Given the description of an element on the screen output the (x, y) to click on. 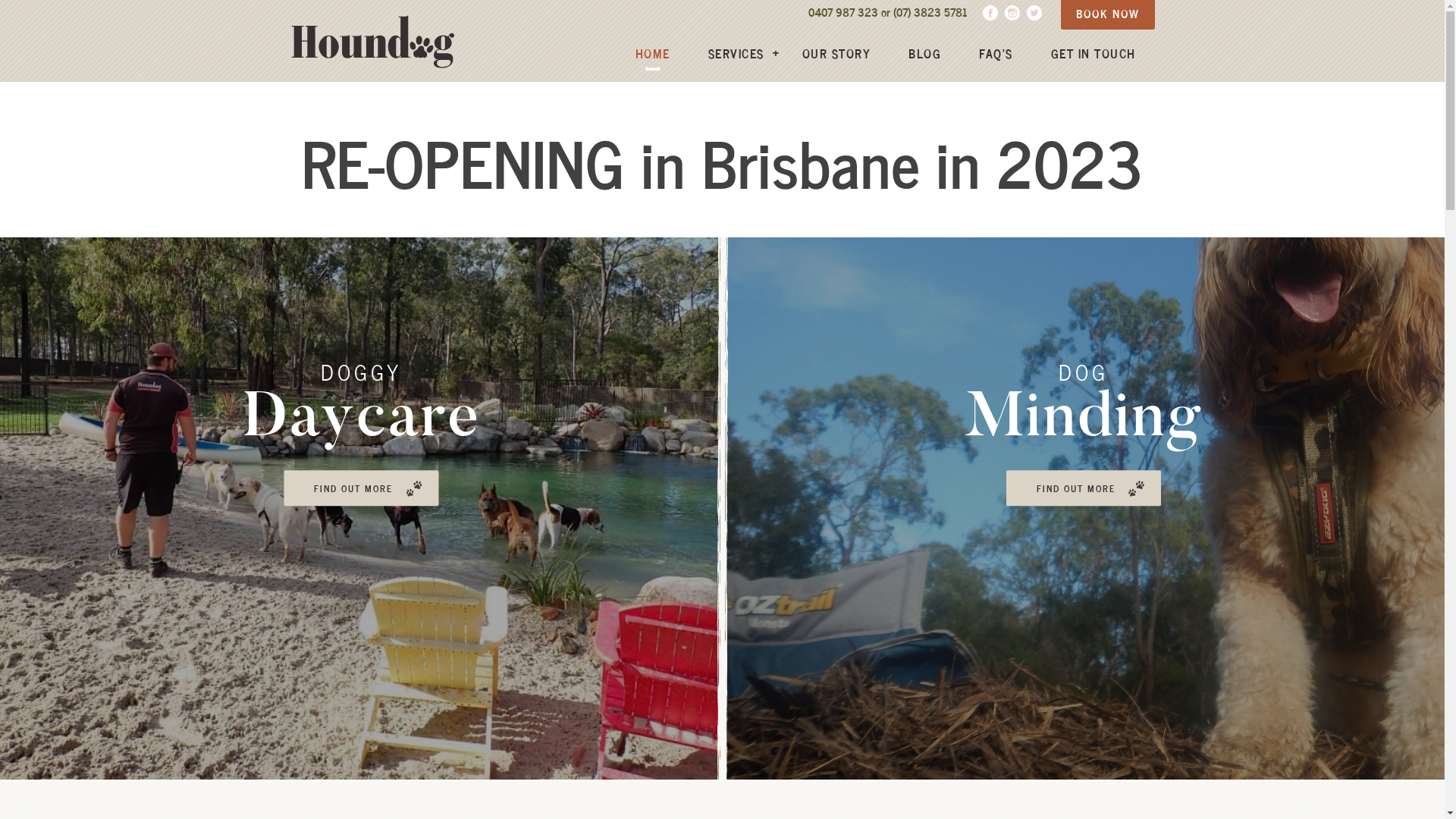
BLOG Element type: text (924, 52)
FIND OUT MORE Element type: text (360, 488)
FIND OUT MORE Element type: text (1083, 488)
SERVICES Element type: text (736, 52)
GET IN TOUCH Element type: text (1093, 52)
HOME Element type: text (652, 52)
OUR STORY Element type: text (836, 52)
